Given the description of an element on the screen output the (x, y) to click on. 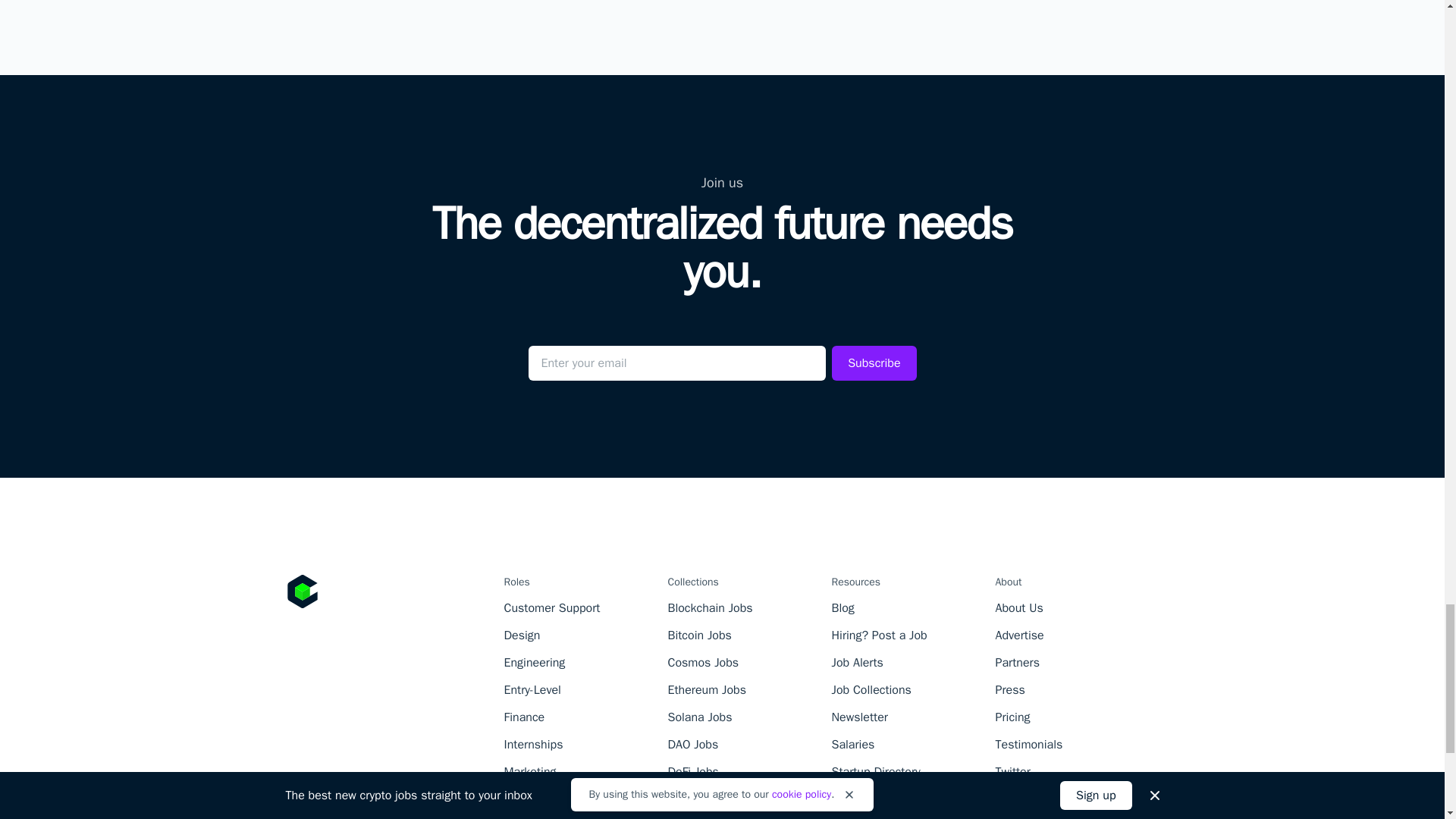
Your email address (676, 362)
